Given the description of an element on the screen output the (x, y) to click on. 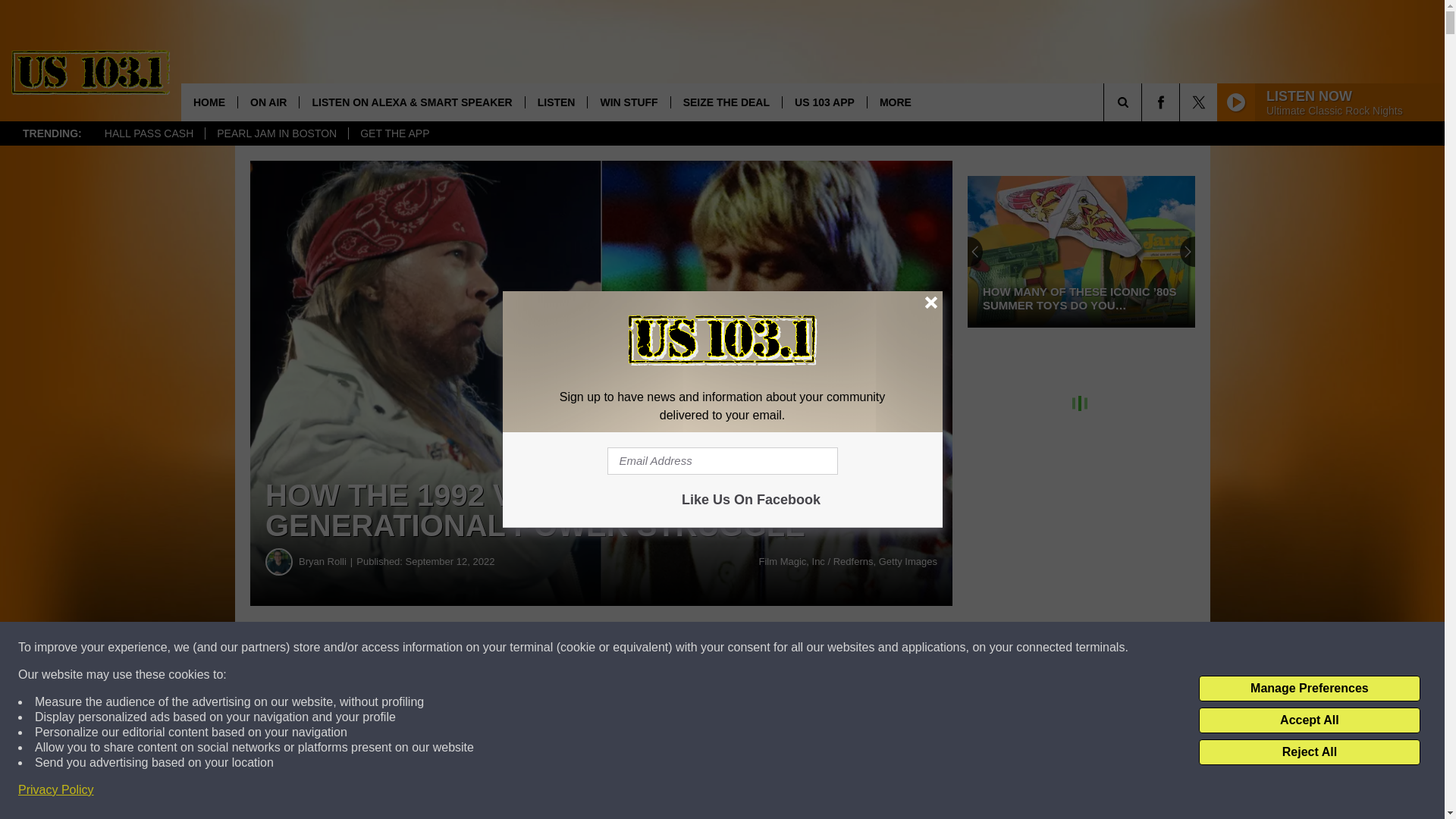
Reject All (1309, 751)
Privacy Policy (55, 789)
ON AIR (267, 102)
PEARL JAM IN BOSTON (276, 133)
Share on Twitter (741, 647)
MORE (894, 102)
Manage Preferences (1309, 688)
TRENDING: (52, 133)
HOME (208, 102)
HALL PASS CASH (149, 133)
GET THE APP (394, 133)
Accept All (1309, 720)
SEARCH (1144, 102)
Email Address (722, 461)
Share on Facebook (460, 647)
